Given the description of an element on the screen output the (x, y) to click on. 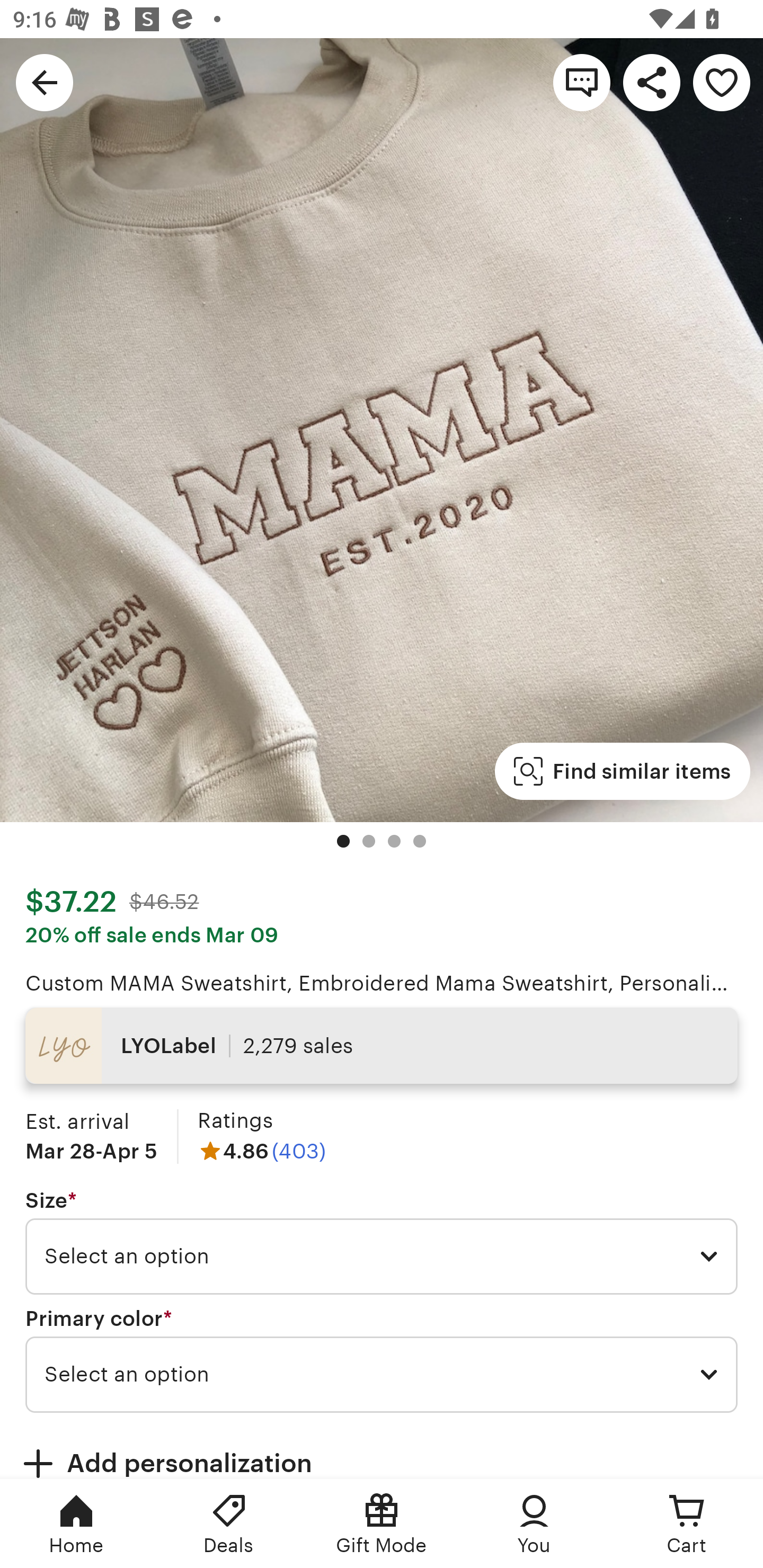
Navigate up (44, 81)
Contact shop (581, 81)
Share (651, 81)
Find similar items (622, 771)
LYOLabel 2,279 sales (381, 1045)
Ratings (235, 1120)
4.86 (403) (261, 1150)
Size * Required Select an option (381, 1241)
Select an option (381, 1256)
Primary color * Required Select an option (381, 1359)
Select an option (381, 1373)
Add personalization Add personalization Required (381, 1451)
Deals (228, 1523)
Gift Mode (381, 1523)
You (533, 1523)
Cart (686, 1523)
